Given the description of an element on the screen output the (x, y) to click on. 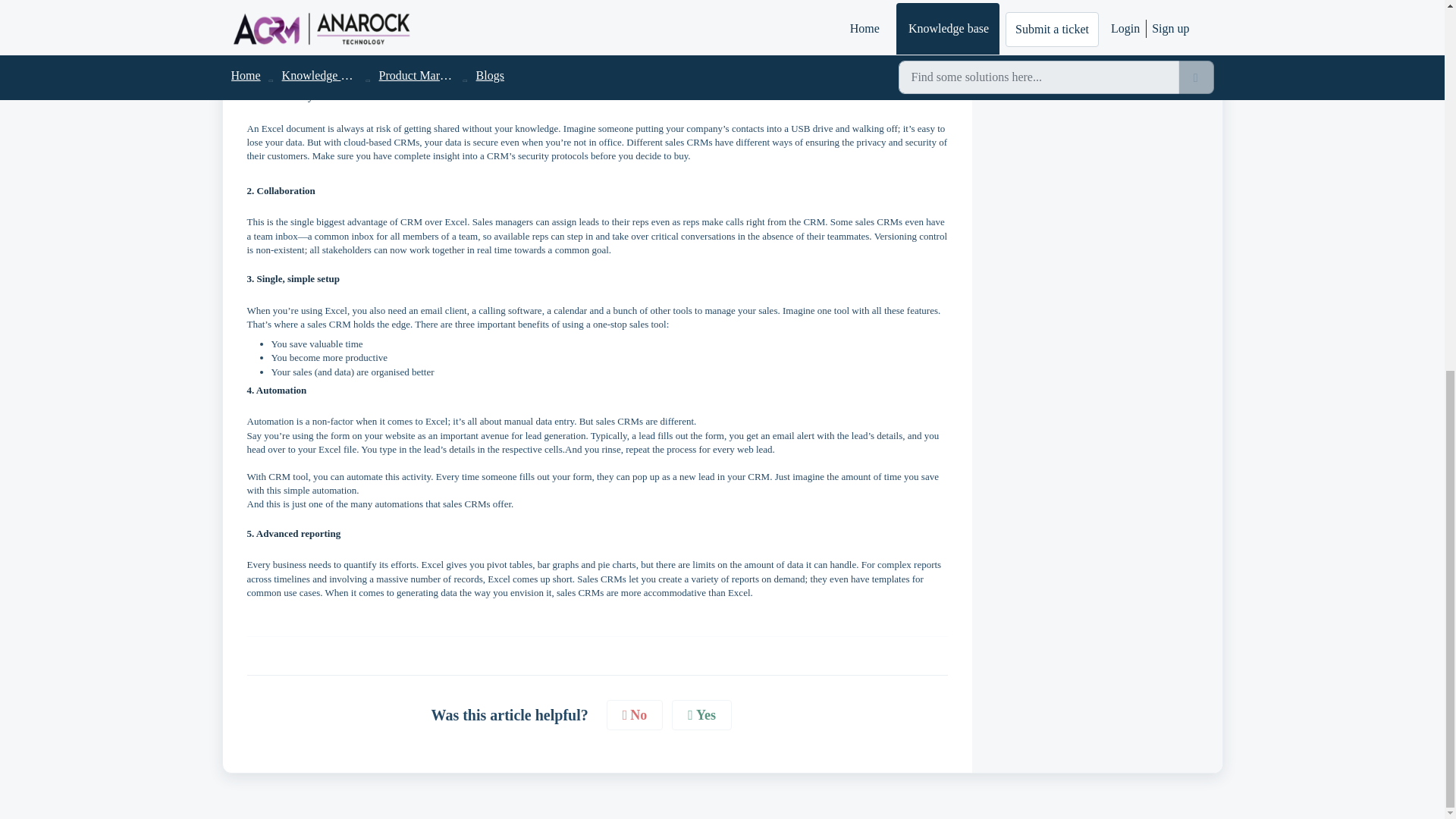
No (635, 715)
Yes (701, 715)
